Given the description of an element on the screen output the (x, y) to click on. 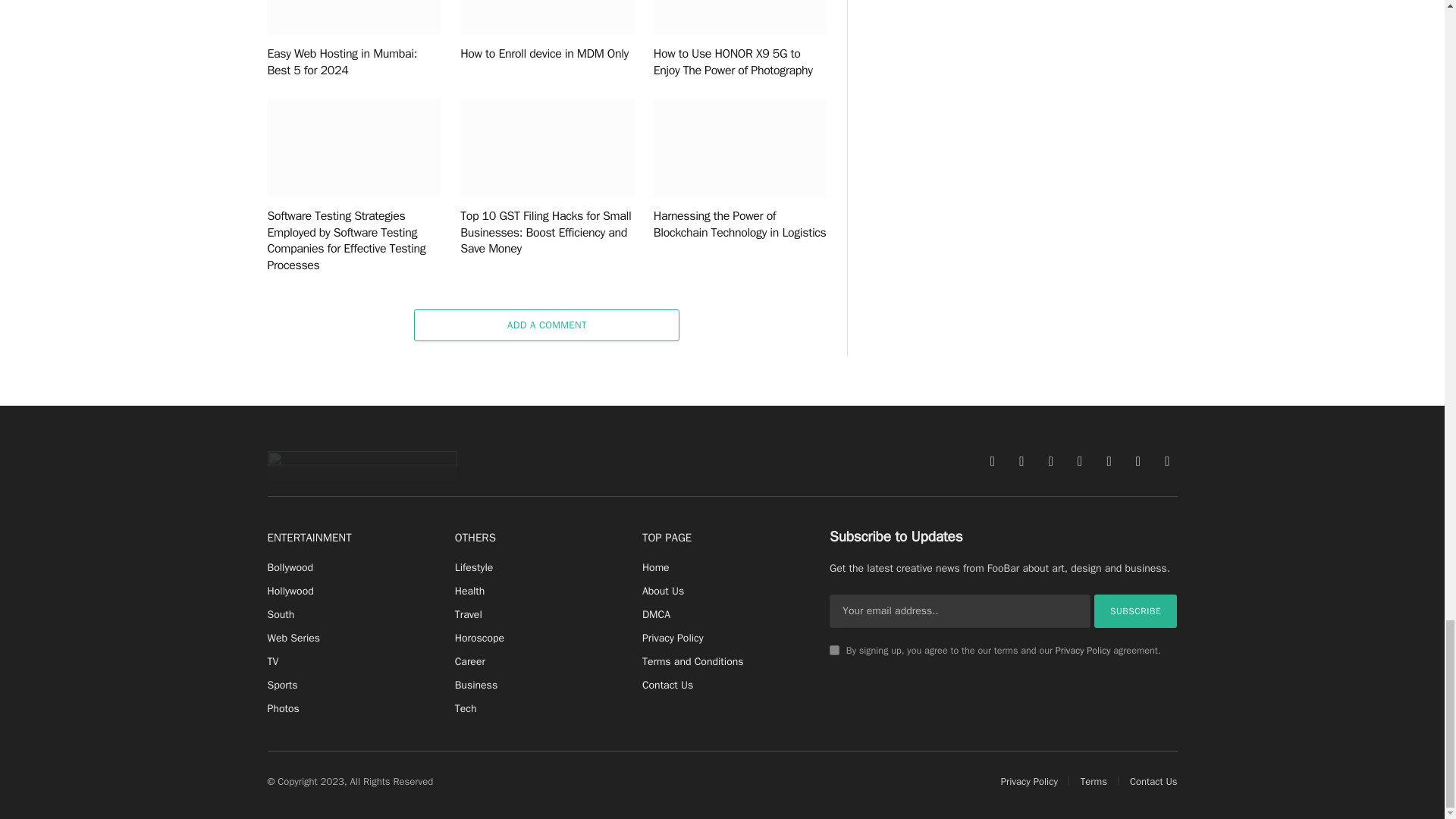
Subscribe (1135, 611)
on (834, 650)
